Given the description of an element on the screen output the (x, y) to click on. 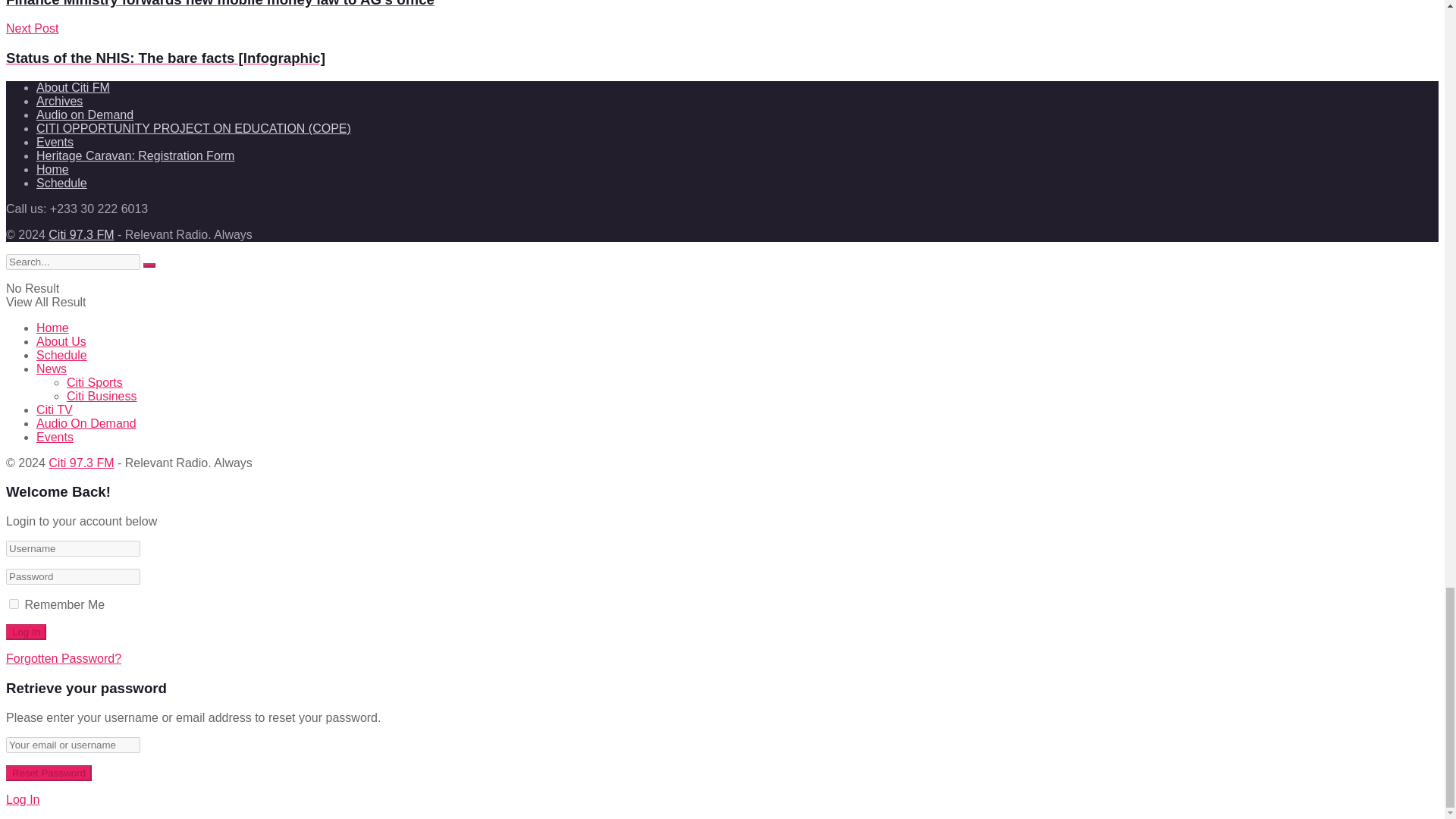
Citi 97.3 FM (80, 234)
Log In (25, 631)
Citi 97.3 FM (80, 462)
Reset Password (48, 772)
true (13, 603)
